Given the description of an element on the screen output the (x, y) to click on. 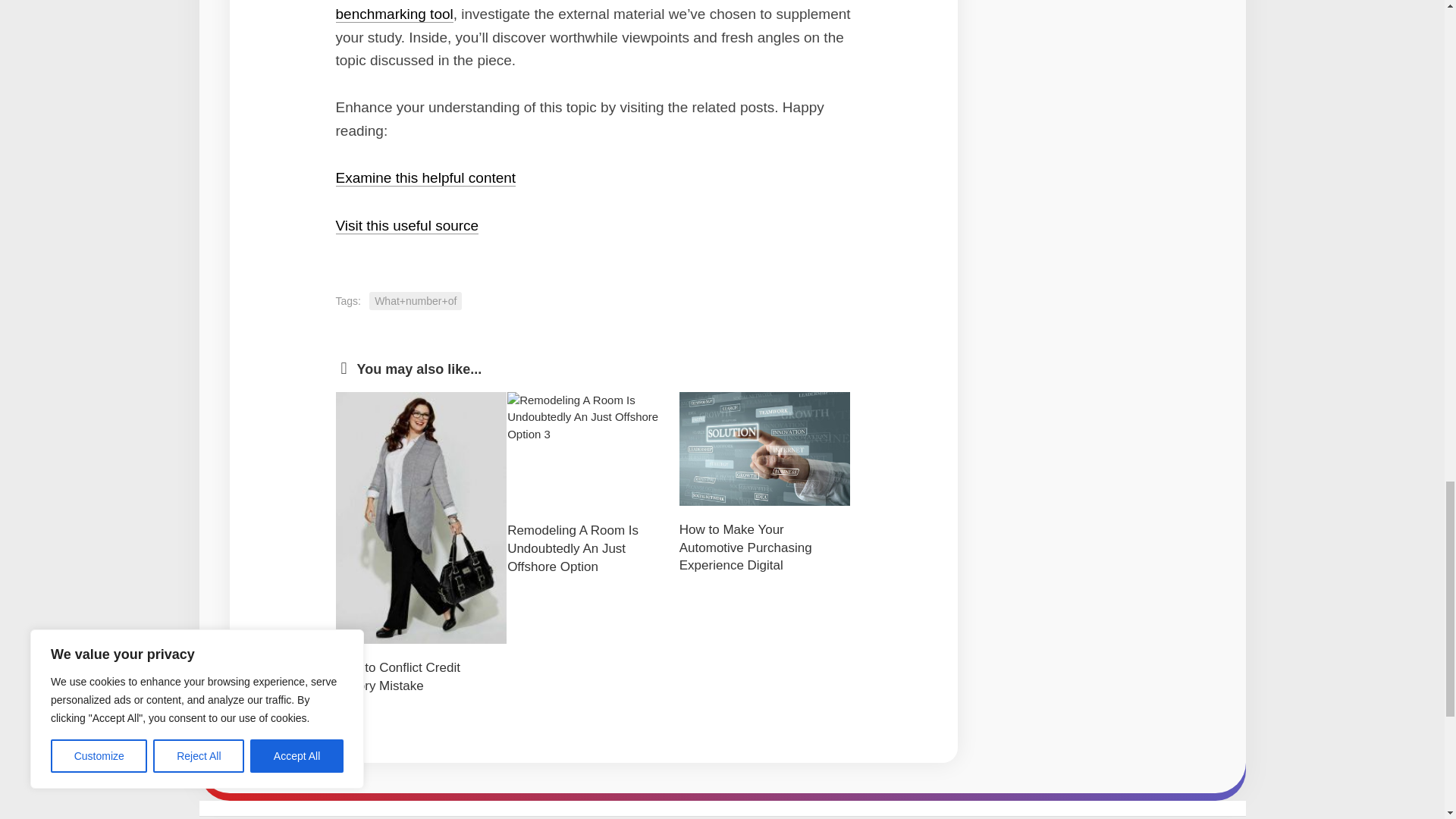
Remodeling A Room Is Undoubtedly An Just Offshore Option (572, 548)
Visit this useful source (406, 225)
Salary benchmarking tool (581, 11)
How to Make Your Automotive Purchasing Experience Digital (745, 547)
Examine this helpful content (424, 177)
How to Conflict Credit History Mistake (397, 676)
